Given the description of an element on the screen output the (x, y) to click on. 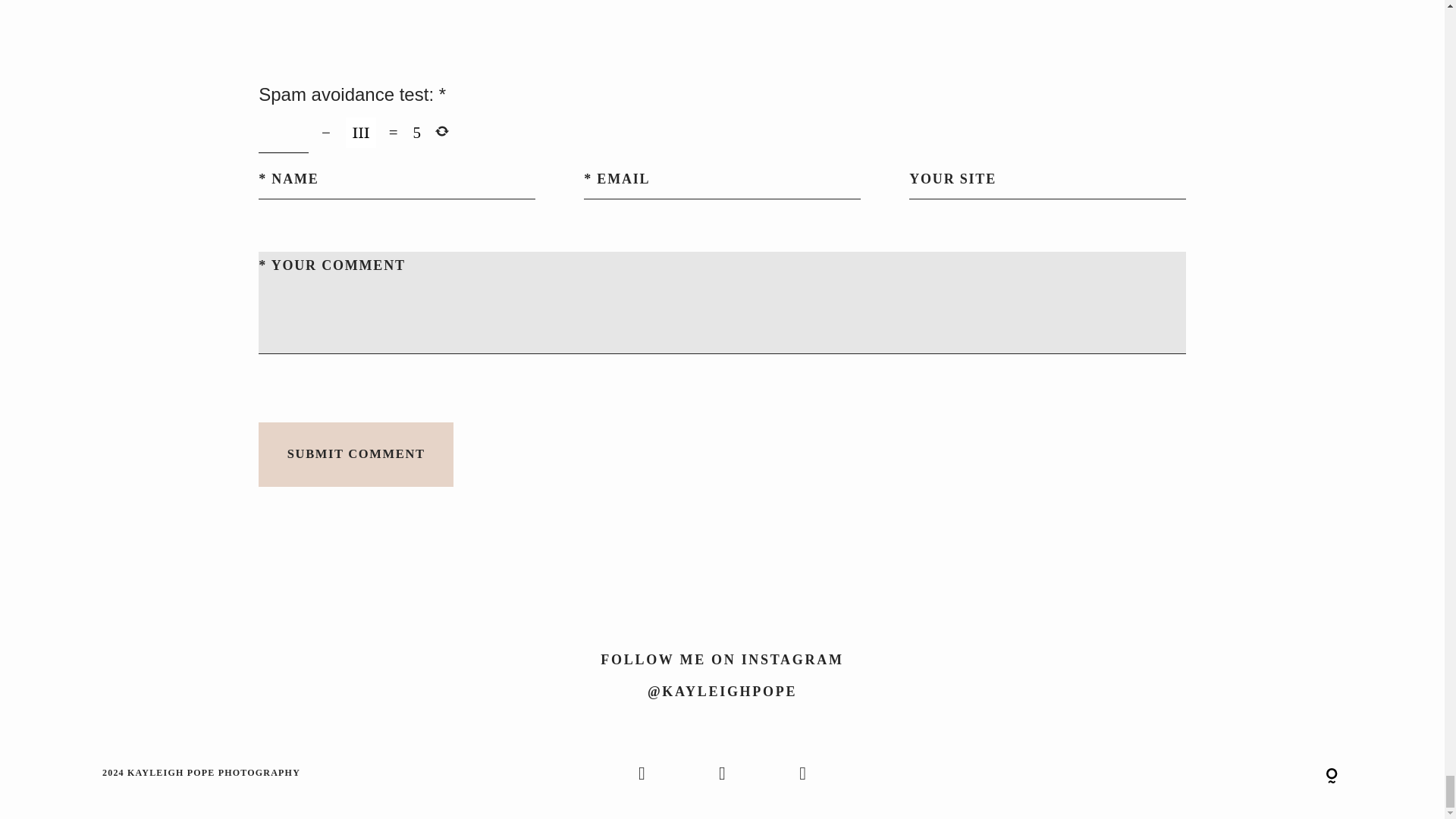
Sorry, your browser does not support inline SVG. (1331, 776)
